Given the description of an element on the screen output the (x, y) to click on. 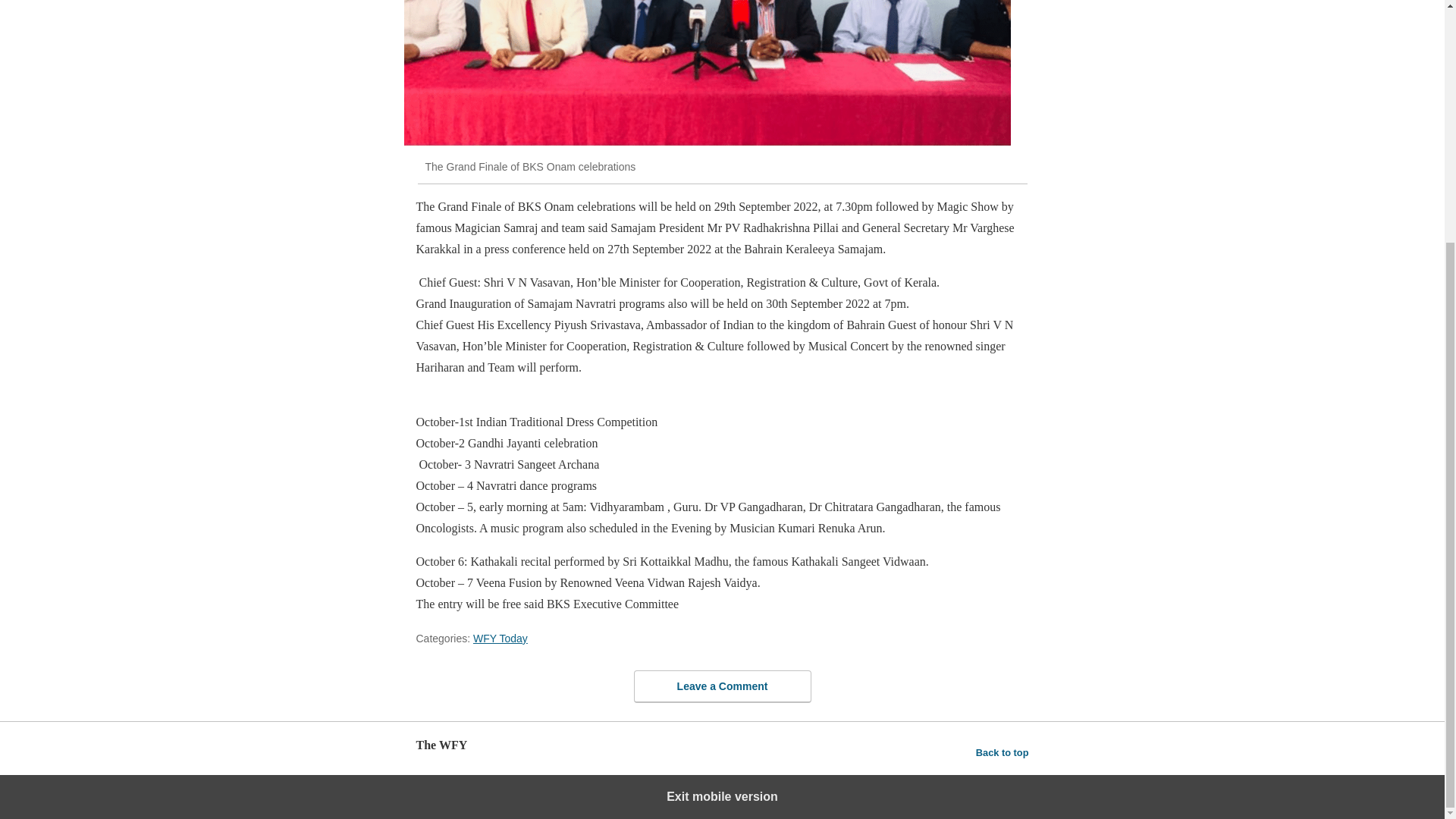
Back to top (1002, 752)
WFY Today (500, 638)
Leave a Comment (721, 686)
